Given the description of an element on the screen output the (x, y) to click on. 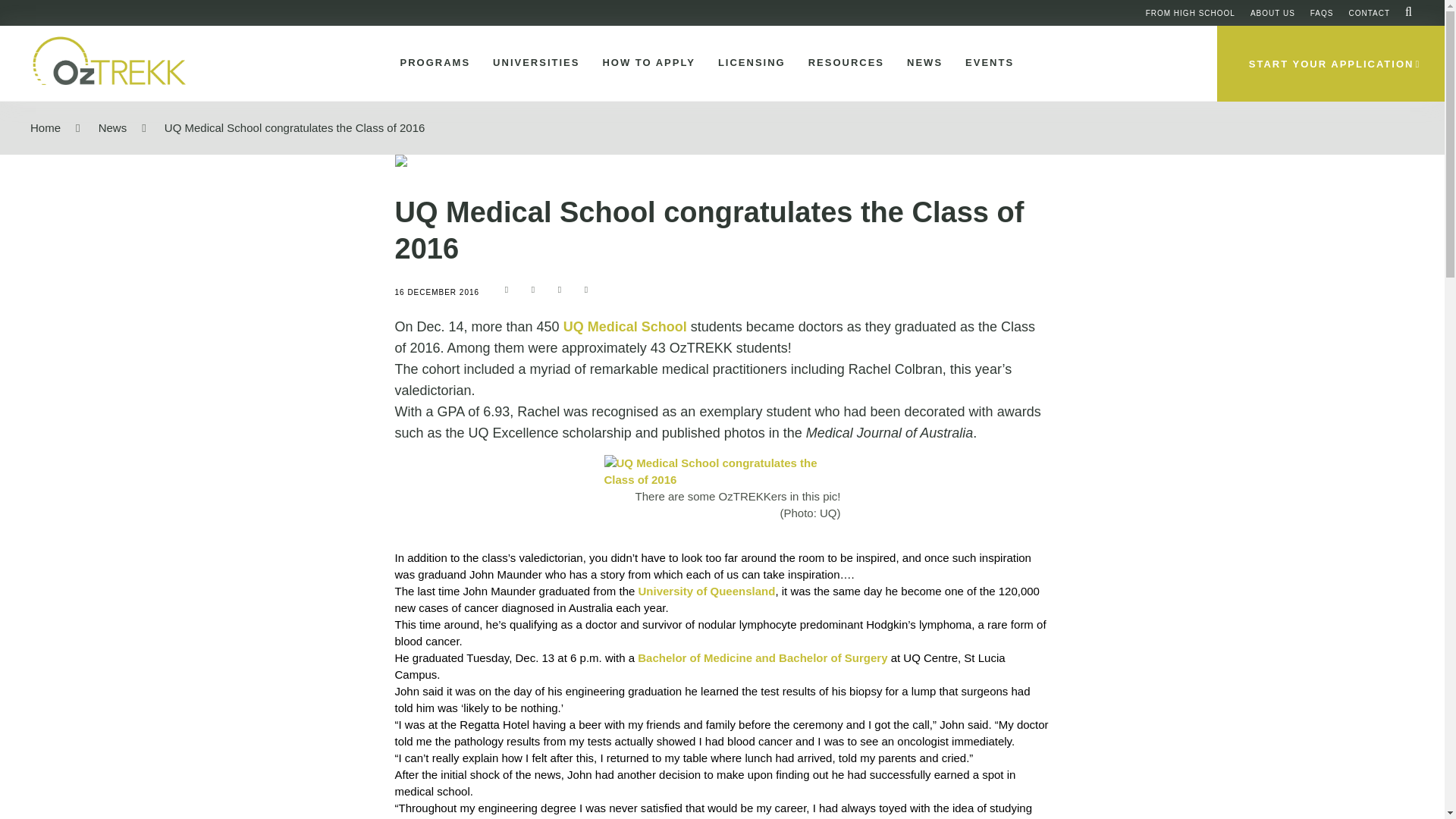
FAQS (1321, 13)
University of Queensland (707, 590)
Learn more about the University of Queensland Medical School (625, 326)
Find out more about UQ Medical School (722, 471)
CONTACT (1369, 13)
FROM HIGH SCHOOL (1189, 13)
ABOUT US (1272, 13)
PROGRAMS (432, 63)
